Given the description of an element on the screen output the (x, y) to click on. 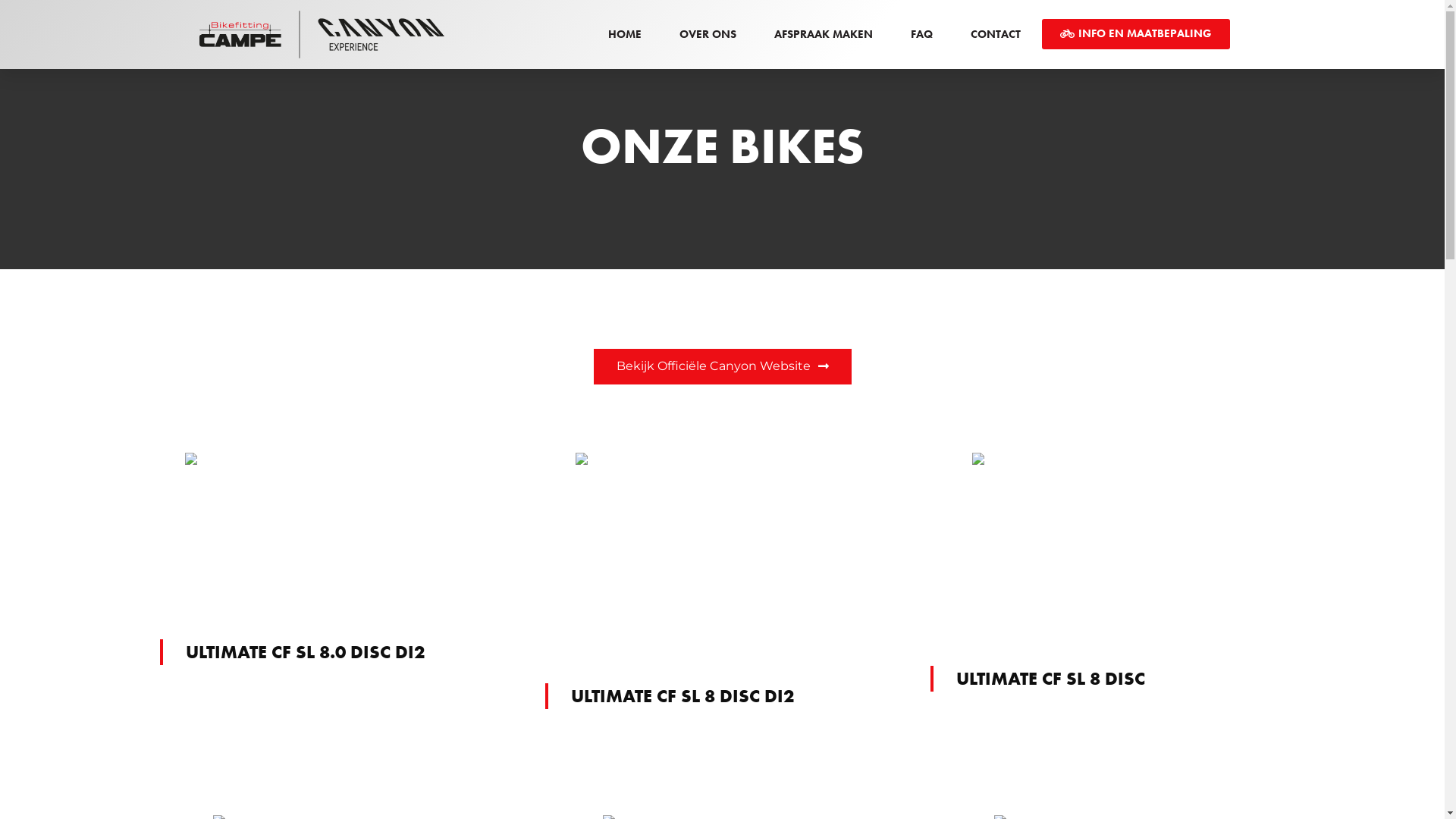
FAQ Element type: text (920, 34)
HOME Element type: text (624, 34)
AFSPRAAK MAKEN Element type: text (822, 34)
OVER ONS Element type: text (707, 34)
INFO EN MAATBEPALING Element type: text (1135, 33)
CONTACT Element type: text (995, 34)
